Given the description of an element on the screen output the (x, y) to click on. 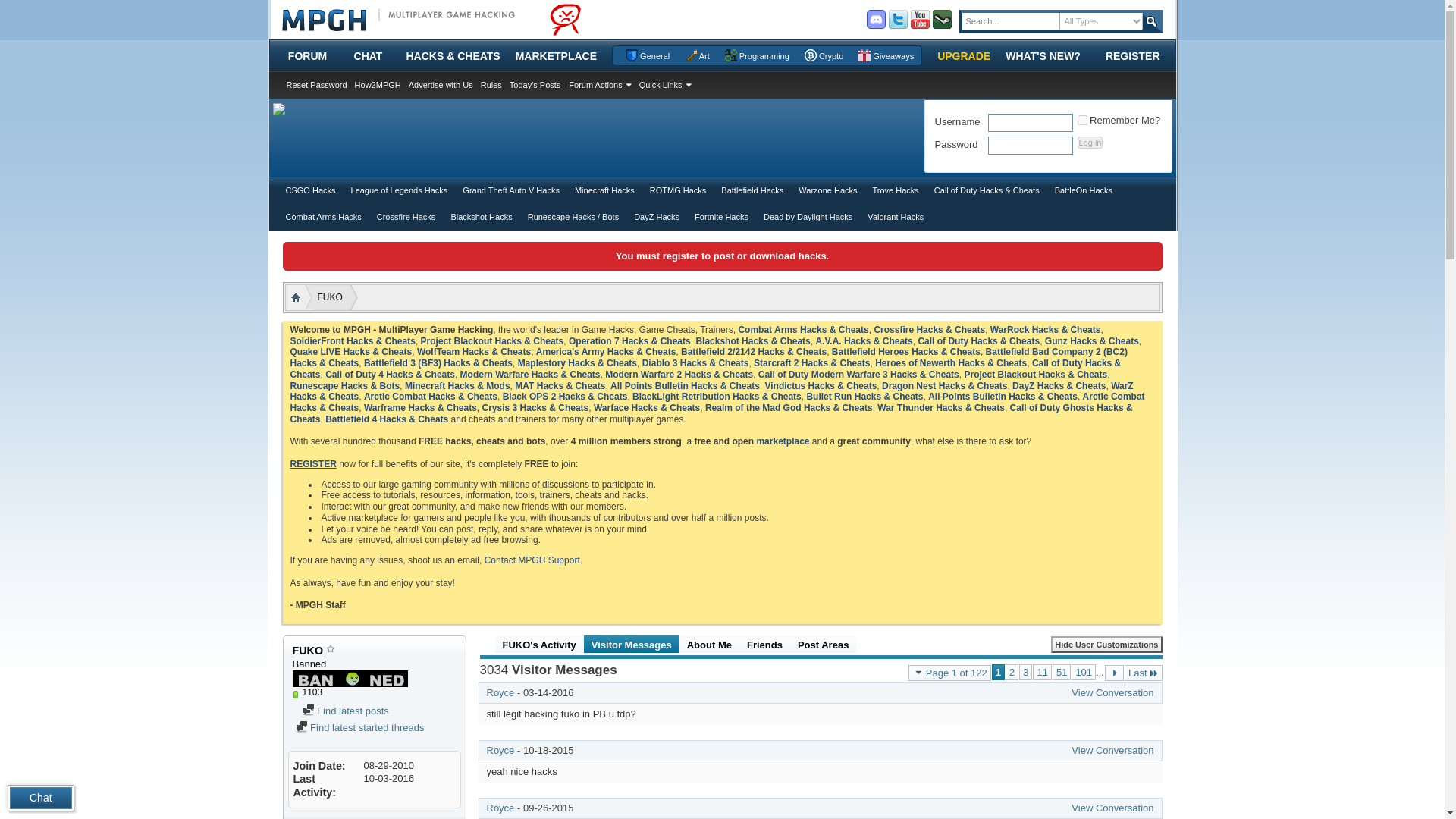
ROTMG Hacks (677, 189)
Forum Actions (598, 84)
FORUM (307, 56)
Art (697, 55)
General (647, 55)
MARKETPLACE (556, 56)
Reset Password (316, 84)
League of Legends Hacks (399, 189)
Advertise with Us (440, 84)
Home (295, 297)
Quick Links (664, 84)
Find latest posts (307, 709)
Minecraft Hacks (604, 189)
Crossfire Hacks (406, 216)
Grand Theft Auto V Hacks (511, 189)
